Given the description of an element on the screen output the (x, y) to click on. 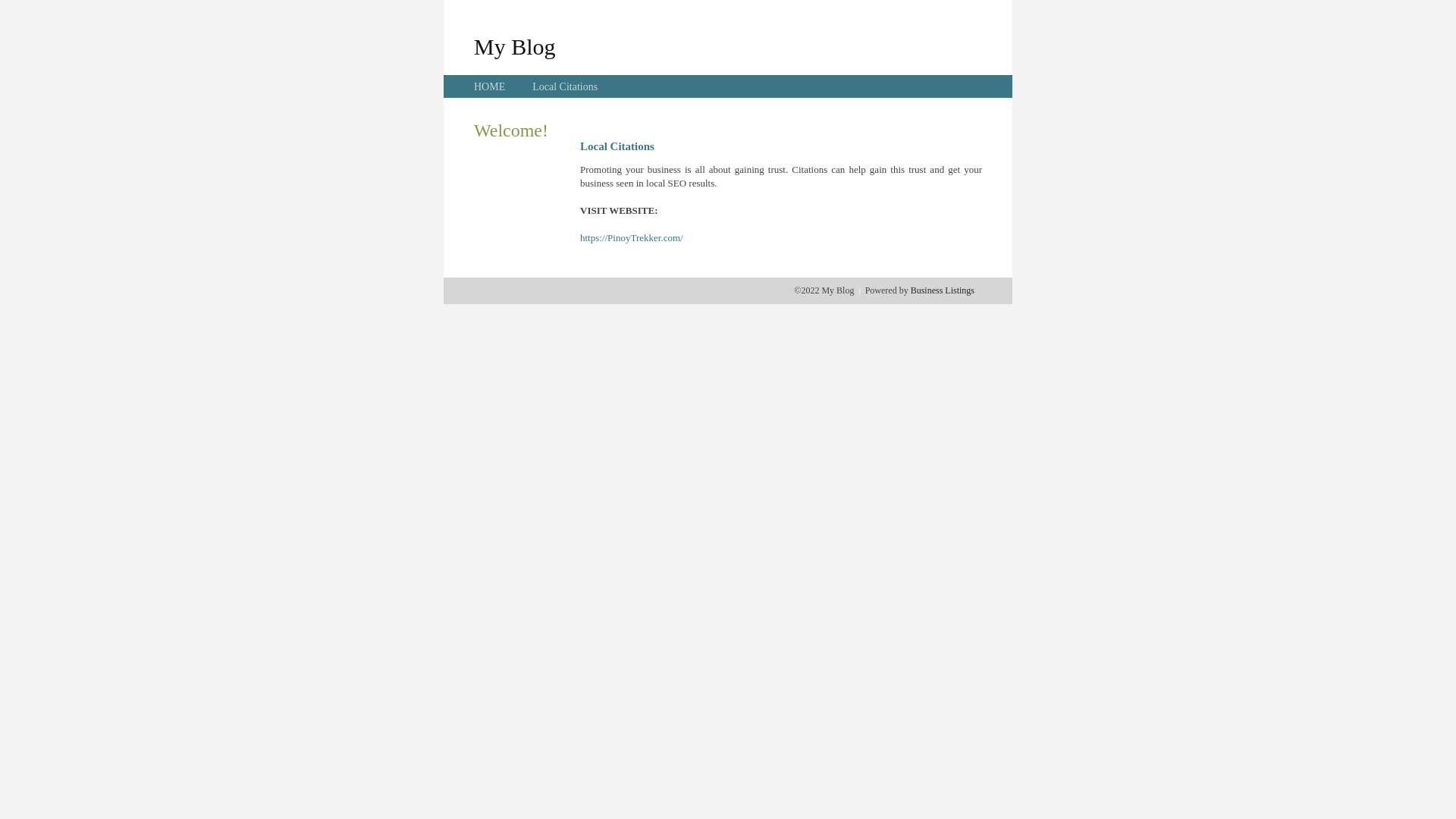
My Blog Element type: text (514, 46)
Business Listings Element type: text (942, 290)
HOME Element type: text (489, 86)
Local Citations Element type: text (564, 86)
https://PinoyTrekker.com/ Element type: text (631, 237)
